Given the description of an element on the screen output the (x, y) to click on. 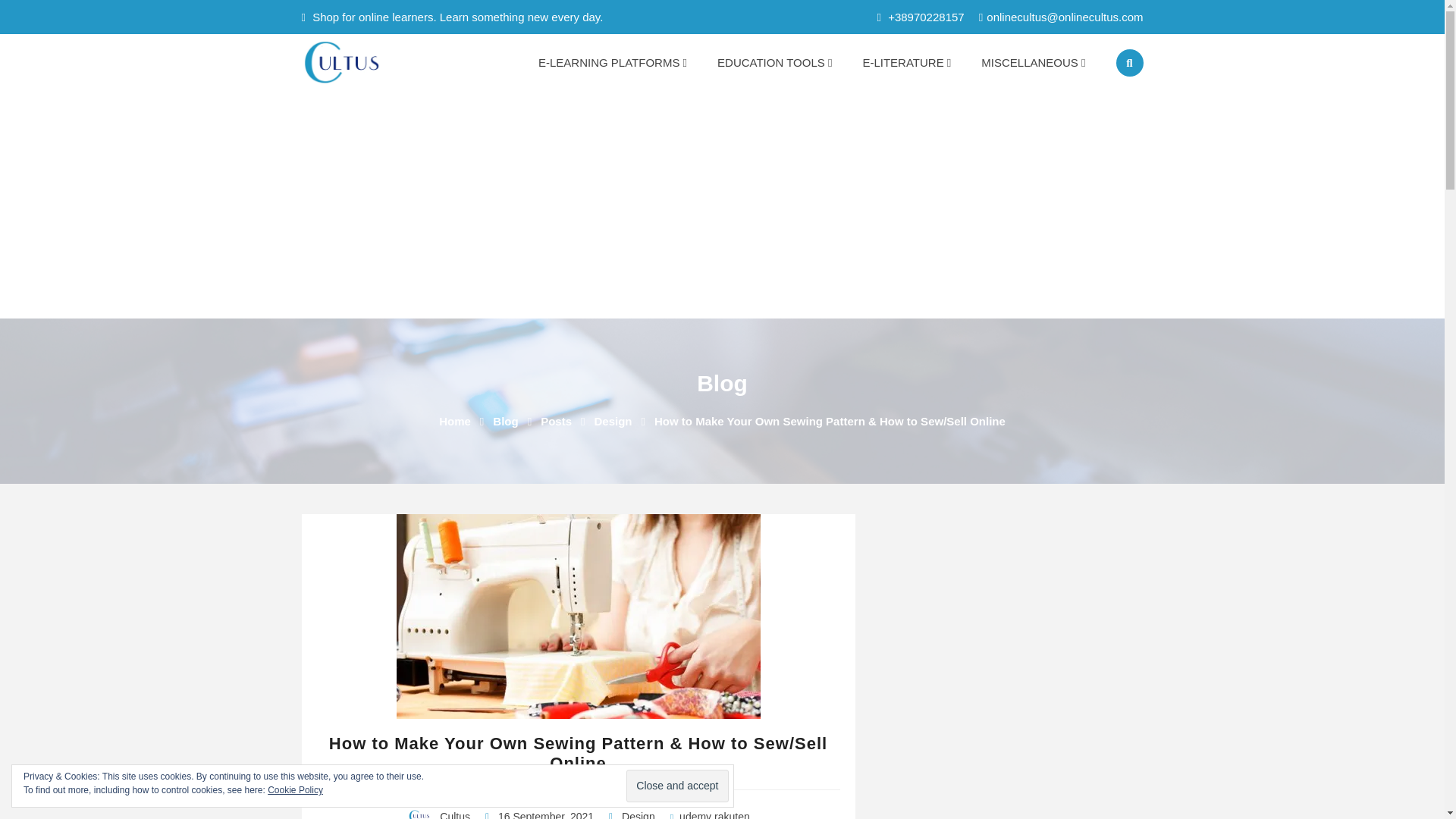
E-LEARNING PLATFORMS (611, 62)
E-LITERATURE (906, 62)
Education tools (774, 62)
E-learning platforms (611, 62)
Close and accept (677, 785)
EDUCATION TOOLS (774, 62)
